Given the description of an element on the screen output the (x, y) to click on. 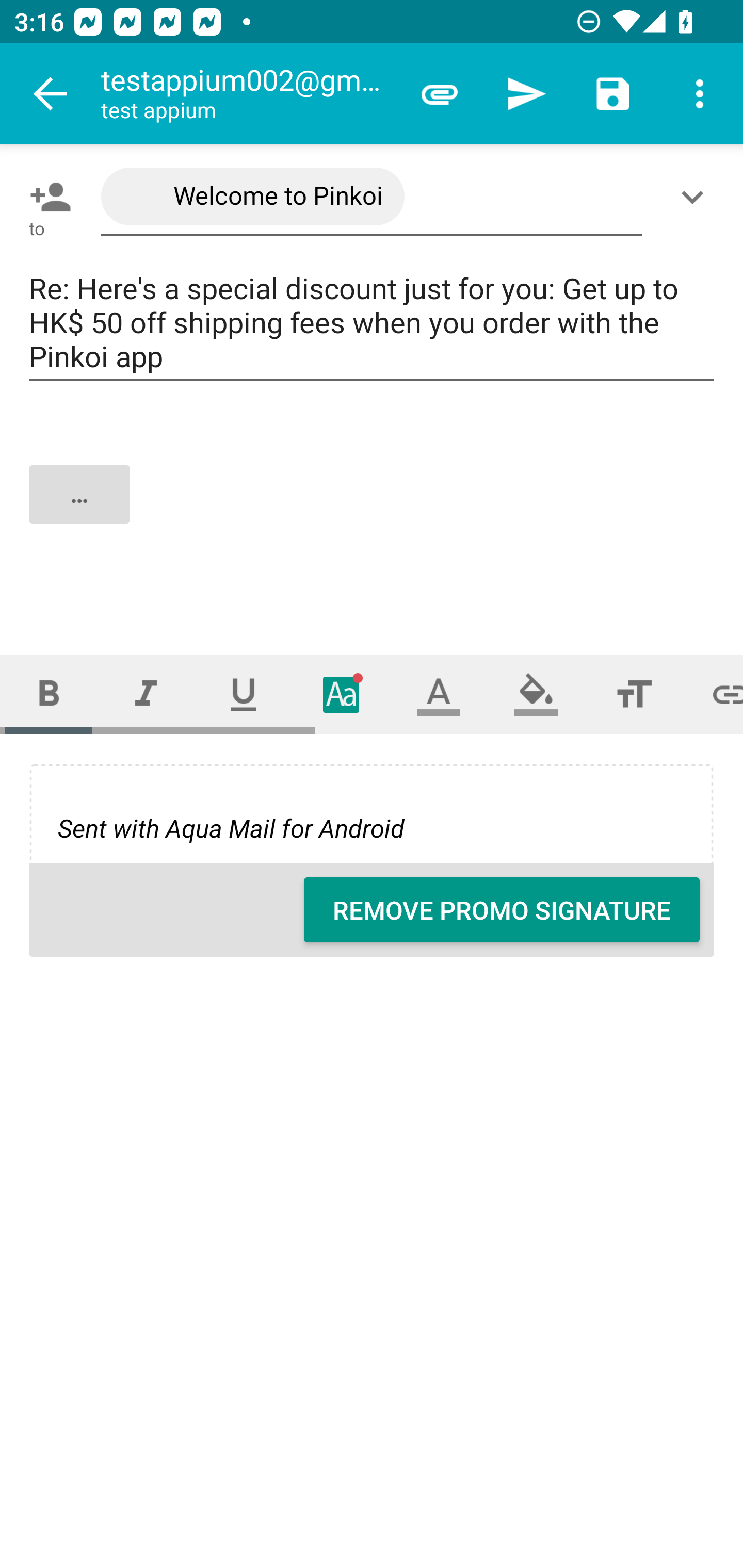
Navigate up (50, 93)
testappium002@gmail.com test appium (248, 93)
Attach (439, 93)
Send (525, 93)
Save (612, 93)
More options (699, 93)
Welcome to Pinkoi <noreply-promo@pinkoi.com>,  (371, 197)
Pick contact: To (46, 196)
Show/Add CC/BCC (696, 196)

…
 (372, 511)
Bold (48, 694)
Italic (145, 694)
Underline (243, 694)
Typeface (font) (341, 694)
Text color (438, 694)
Fill color (536, 694)
Font size (633, 694)
REMOVE PROMO SIGNATURE (501, 910)
